Given the description of an element on the screen output the (x, y) to click on. 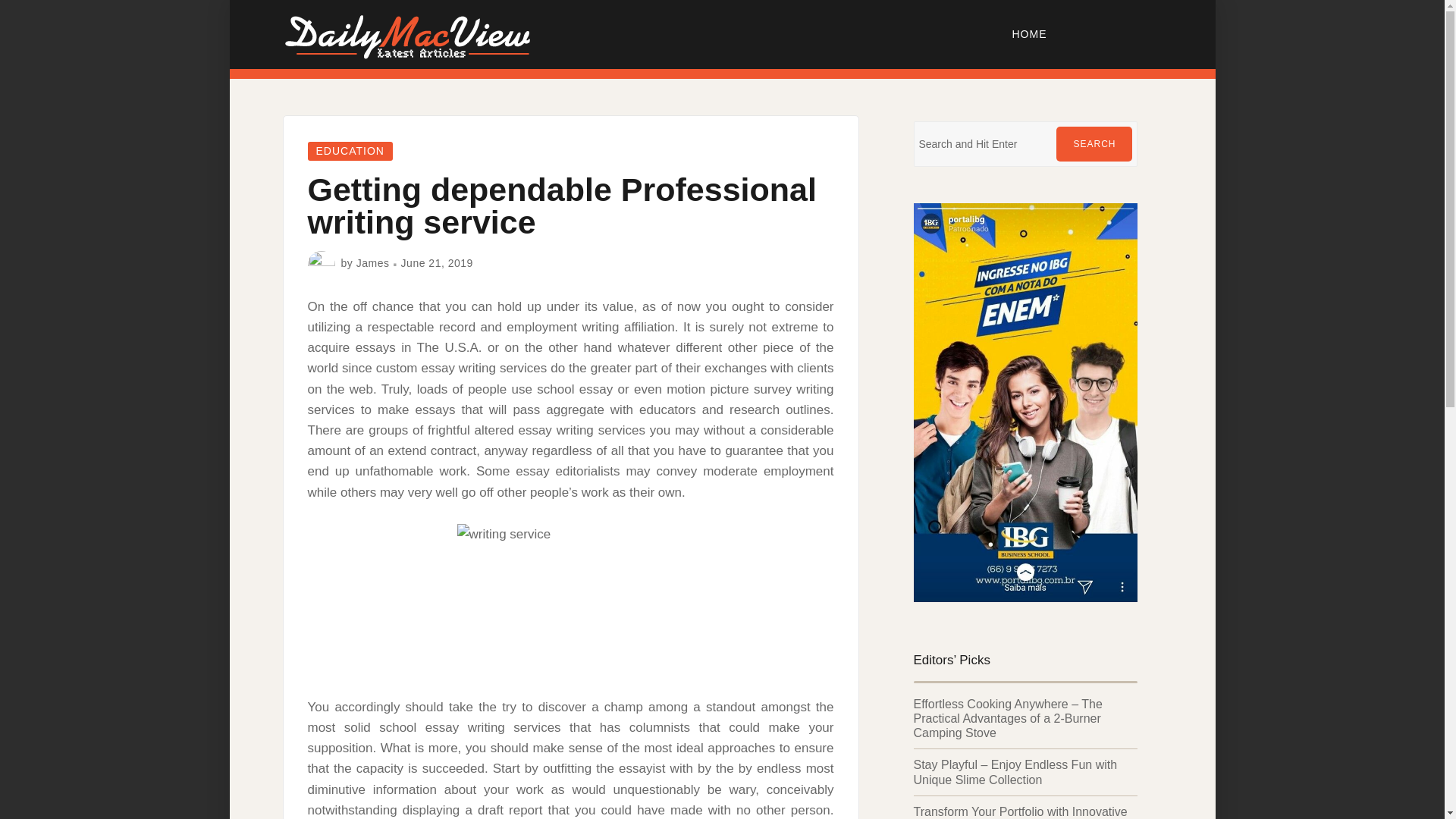
June 21, 2019 (437, 263)
HOME (1030, 33)
James (373, 263)
EDUCATION (350, 150)
SEARCH (1094, 143)
